Given the description of an element on the screen output the (x, y) to click on. 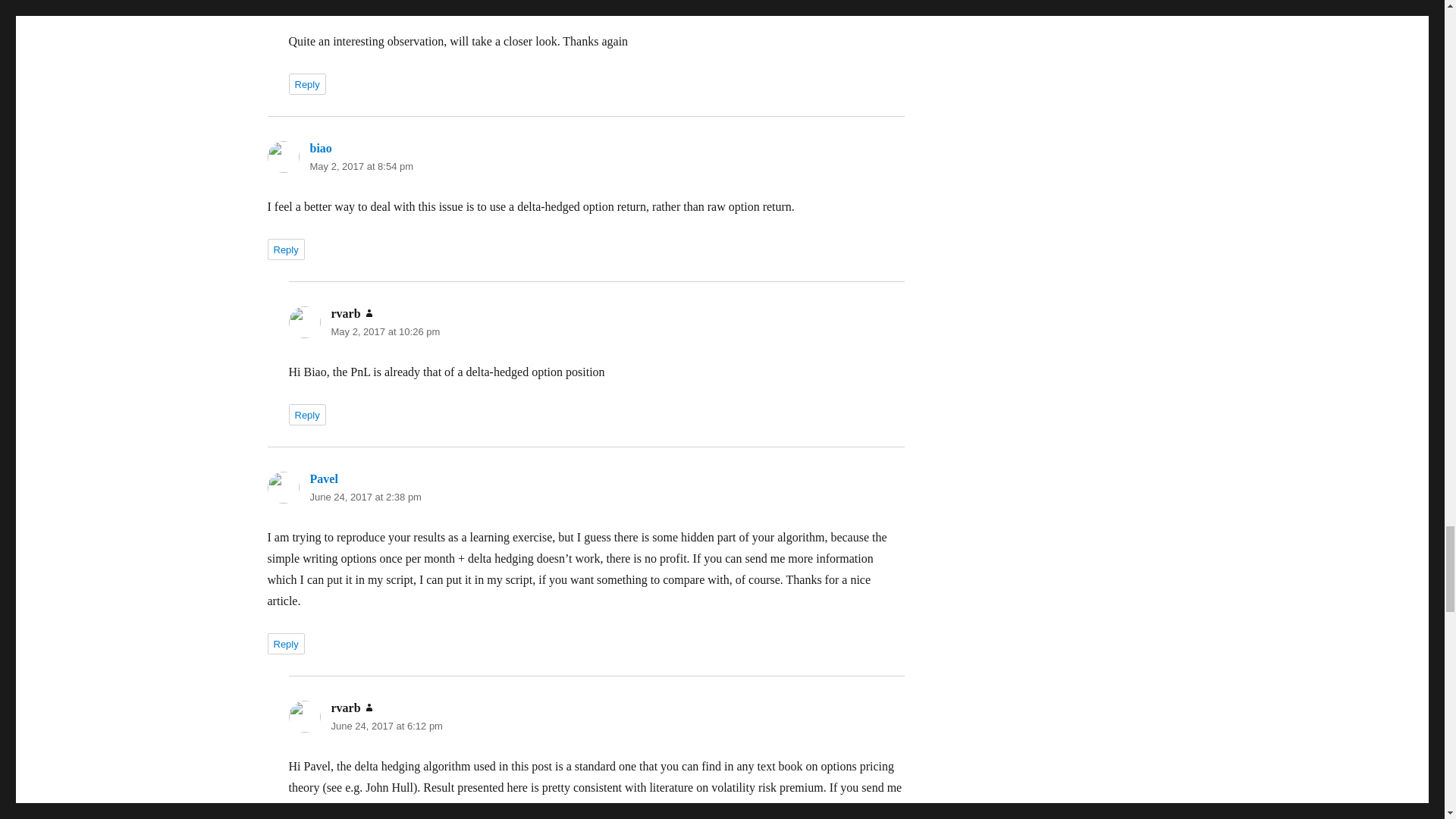
Reply (285, 249)
May 2, 2017 at 7:38 pm (381, 3)
biao (319, 147)
Reply (306, 84)
Reply (306, 414)
May 2, 2017 at 10:26 pm (384, 331)
Pavel (322, 478)
May 2, 2017 at 8:54 pm (360, 165)
June 24, 2017 at 2:38 pm (364, 496)
Reply (285, 643)
